Given the description of an element on the screen output the (x, y) to click on. 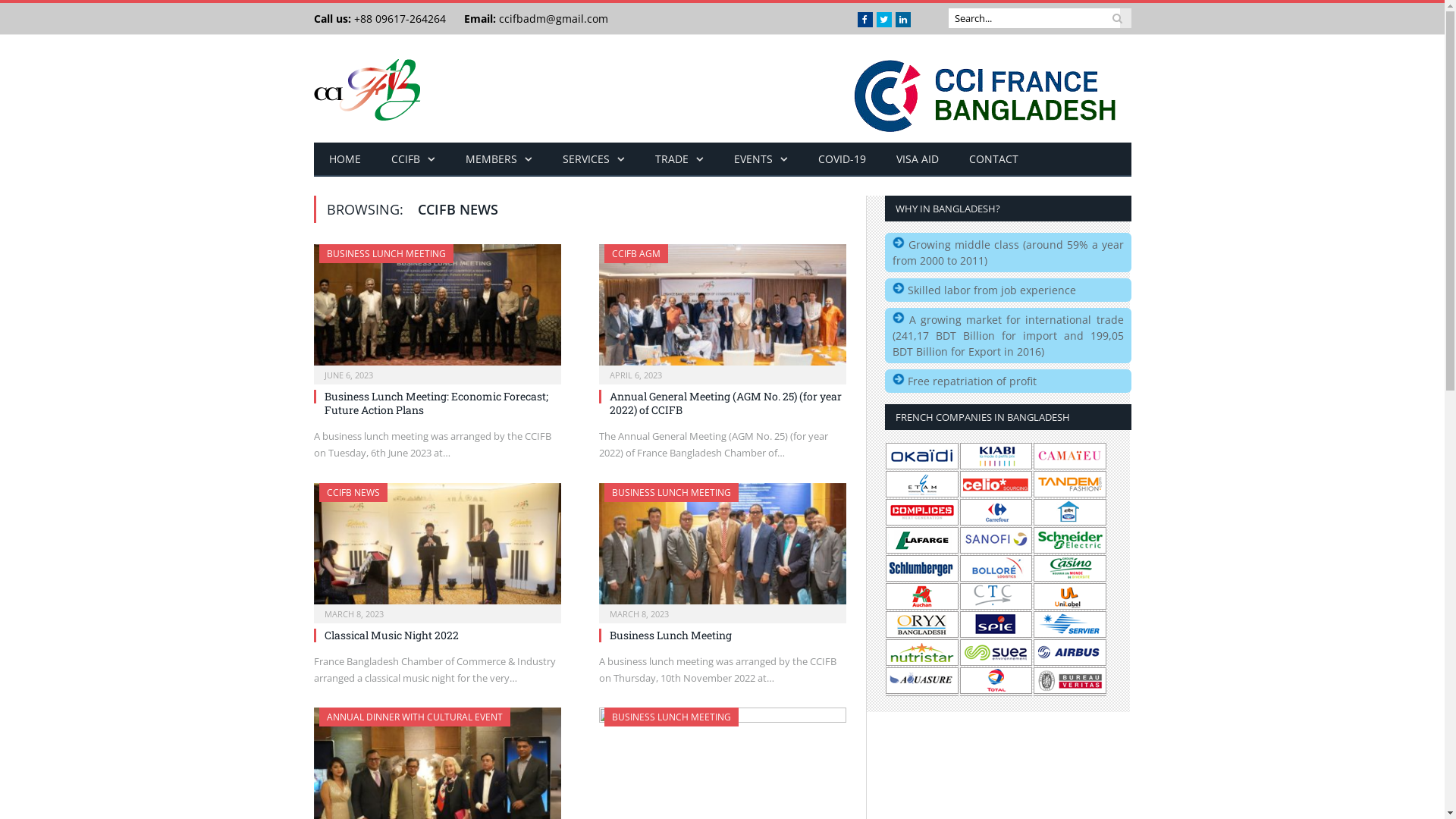
BUSINESS LUNCH MEETING Element type: text (385, 253)
SERVICES Element type: text (593, 159)
+88 09617-264264 Element type: text (397, 18)
CONTACT Element type: text (993, 159)
MEMBERS Element type: text (498, 159)
CCI FRANCE BANGLADESH Element type: hover (366, 85)
Facebook Element type: text (864, 19)
Annual General Meeting (AGM No. 25) (for year 2022) of CCIFB Element type: text (725, 403)
BUSINESS LUNCH MEETING Element type: text (670, 492)
ccifbadm@gmail.com Element type: text (553, 18)
VISA AID Element type: text (917, 159)
CCIFB AGM Element type: text (635, 253)
ANNUAL DINNER WITH CULTURAL EVENT Element type: text (414, 716)
COVID-19 Element type: text (841, 159)
LinkedIn Element type: text (902, 19)
EVENTS Element type: text (760, 159)
TRADE Element type: text (679, 159)
HOME Element type: text (344, 159)
Classical Music Night 2022 Element type: hover (437, 548)
CCIFB NEWS Element type: text (352, 492)
CCIFB Element type: text (413, 159)
Business Lunch Meeting Element type: text (670, 634)
Classical Music Night 2022 Element type: text (391, 634)
Annual General Meeting (AGM No. 25) (for year 2022) of CCIFB Element type: hover (722, 309)
Business Lunch Meeting Element type: hover (722, 548)
BUSINESS LUNCH MEETING Element type: text (670, 716)
Twitter Element type: text (883, 19)
